Given the description of an element on the screen output the (x, y) to click on. 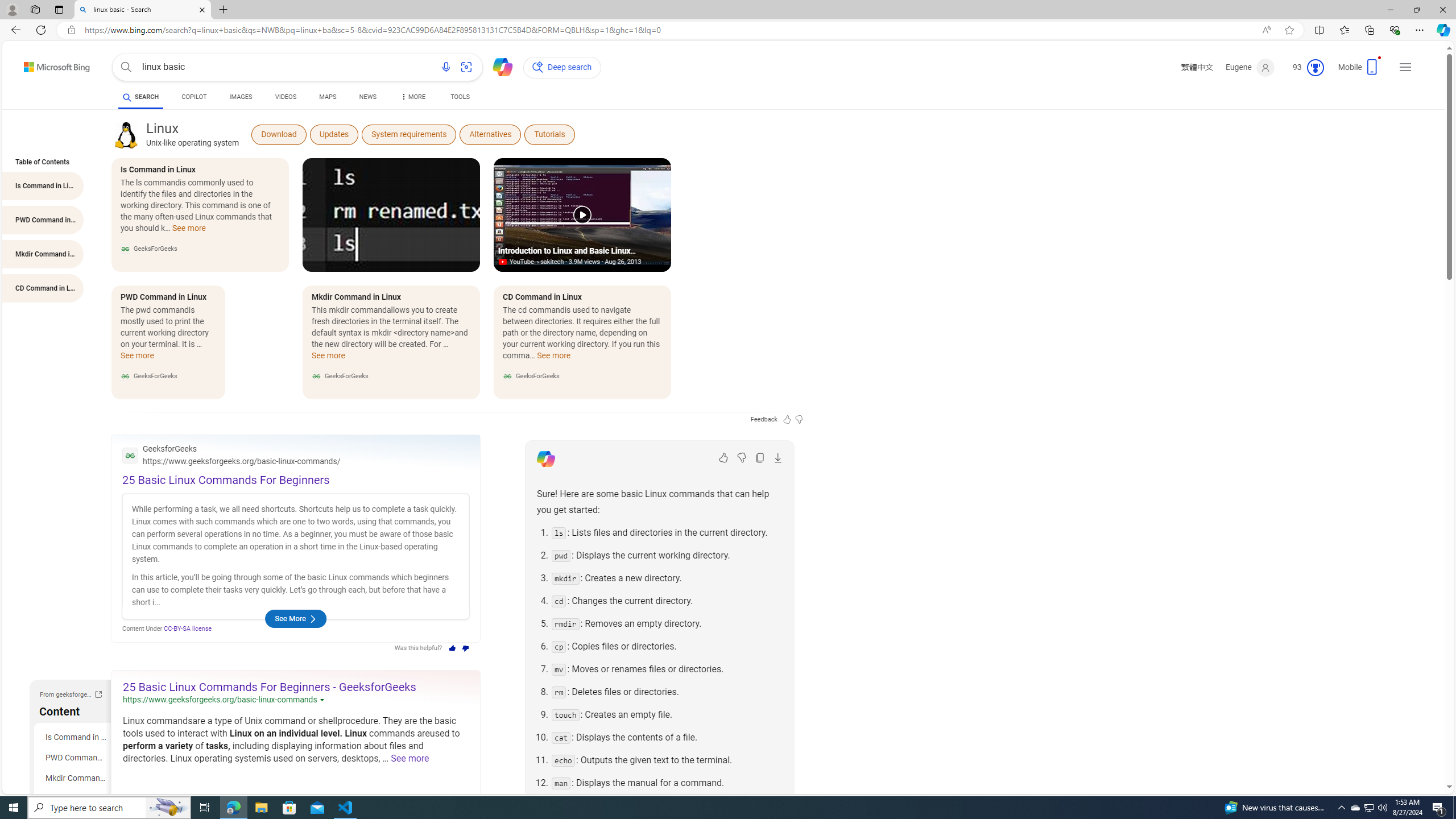
cp: Copies files or directories. (666, 646)
rm: Deletes files or directories. (666, 691)
Alternatives (490, 134)
Feedback Dislike (798, 418)
See more PWD Command in Linux (137, 358)
Back to Bing search (50, 64)
